Given the description of an element on the screen output the (x, y) to click on. 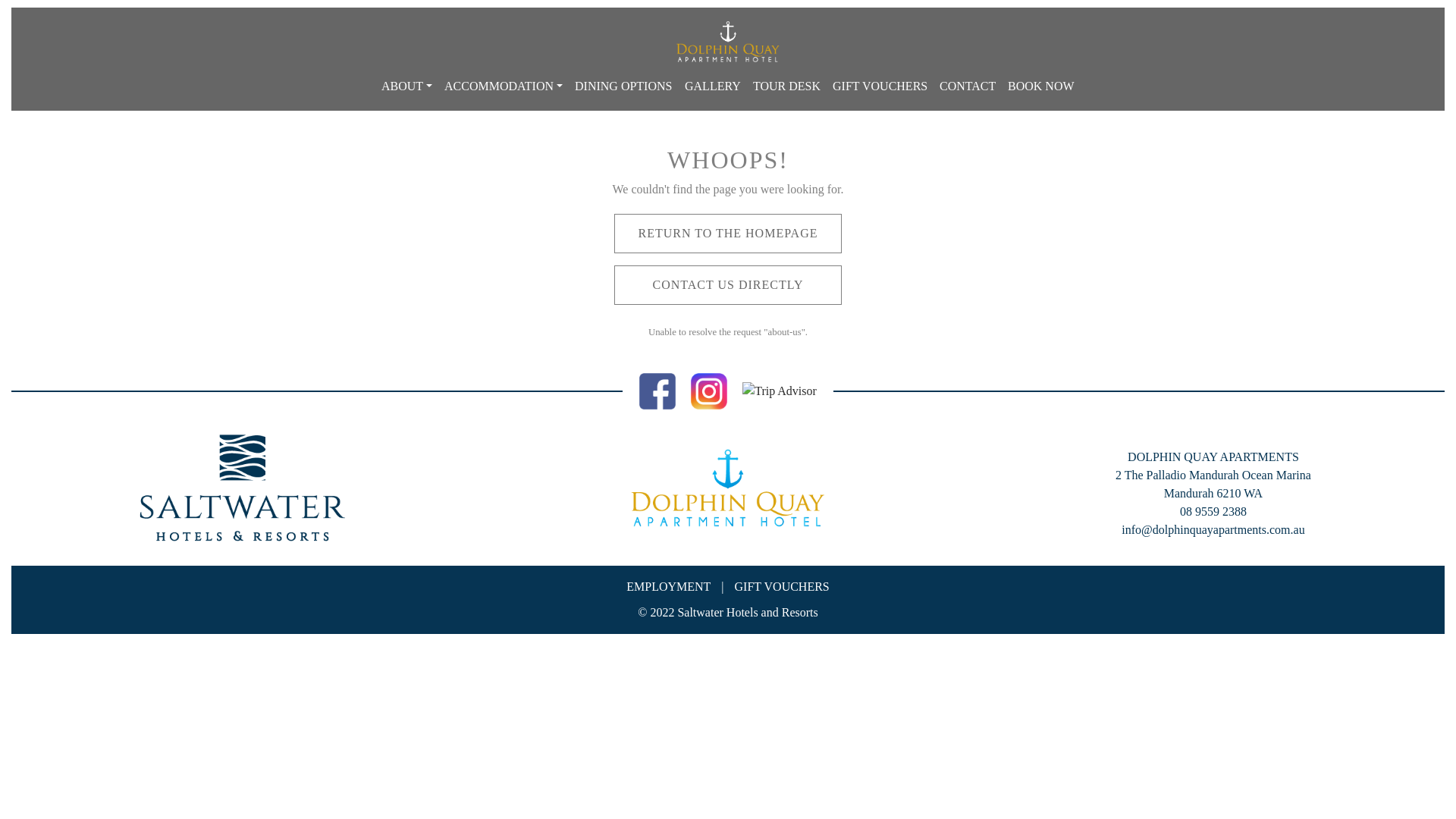
Saltwater Hotels & Resorts Element type: hover (242, 487)
Instagram Element type: hover (708, 389)
GIFT VOUCHERS Element type: text (781, 586)
RETURN TO THE HOMEPAGE Element type: text (727, 233)
BOOK NOW Element type: text (1040, 86)
CONTACT US DIRECTLY Element type: text (727, 284)
EMPLOYMENT Element type: text (668, 586)
Trip Advisor Element type: hover (779, 389)
Facebook Element type: hover (657, 389)
TOUR DESK Element type: text (786, 86)
ABOUT Element type: text (406, 86)
GALLERY Element type: text (712, 86)
DINING OPTIONS Element type: text (622, 86)
CONTACT Element type: text (967, 86)
info@dolphinquayapartments.com.au Element type: text (1212, 529)
ACCOMMODATION Element type: text (503, 86)
GIFT VOUCHERS Element type: text (879, 86)
